Given the description of an element on the screen output the (x, y) to click on. 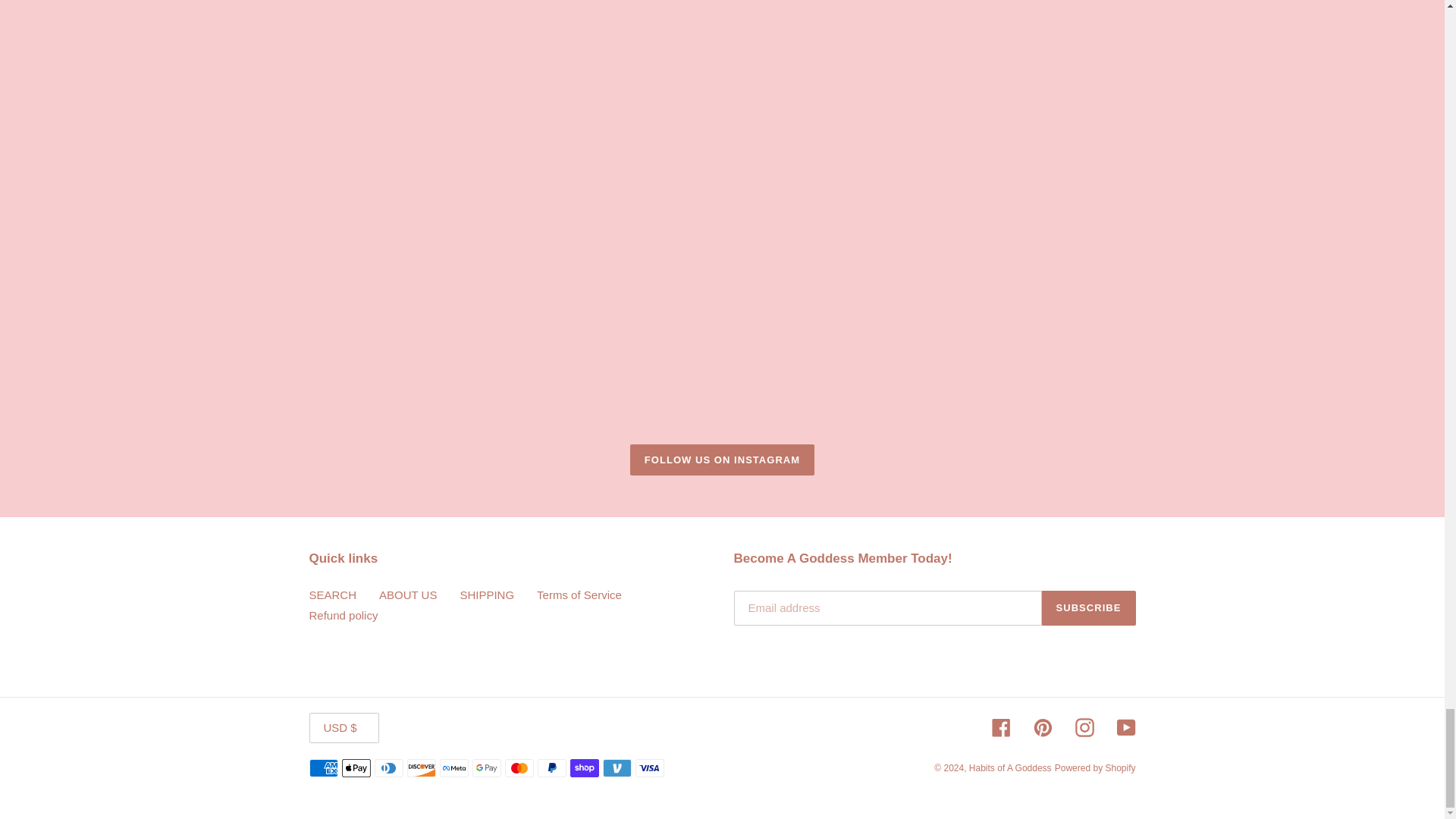
SEARCH (332, 594)
Refund policy (343, 615)
SHIPPING (486, 594)
SUBSCRIBE (1088, 607)
Terms of Service (579, 594)
ABOUT US (407, 594)
FOLLOW US ON INSTAGRAM (721, 459)
